Given the description of an element on the screen output the (x, y) to click on. 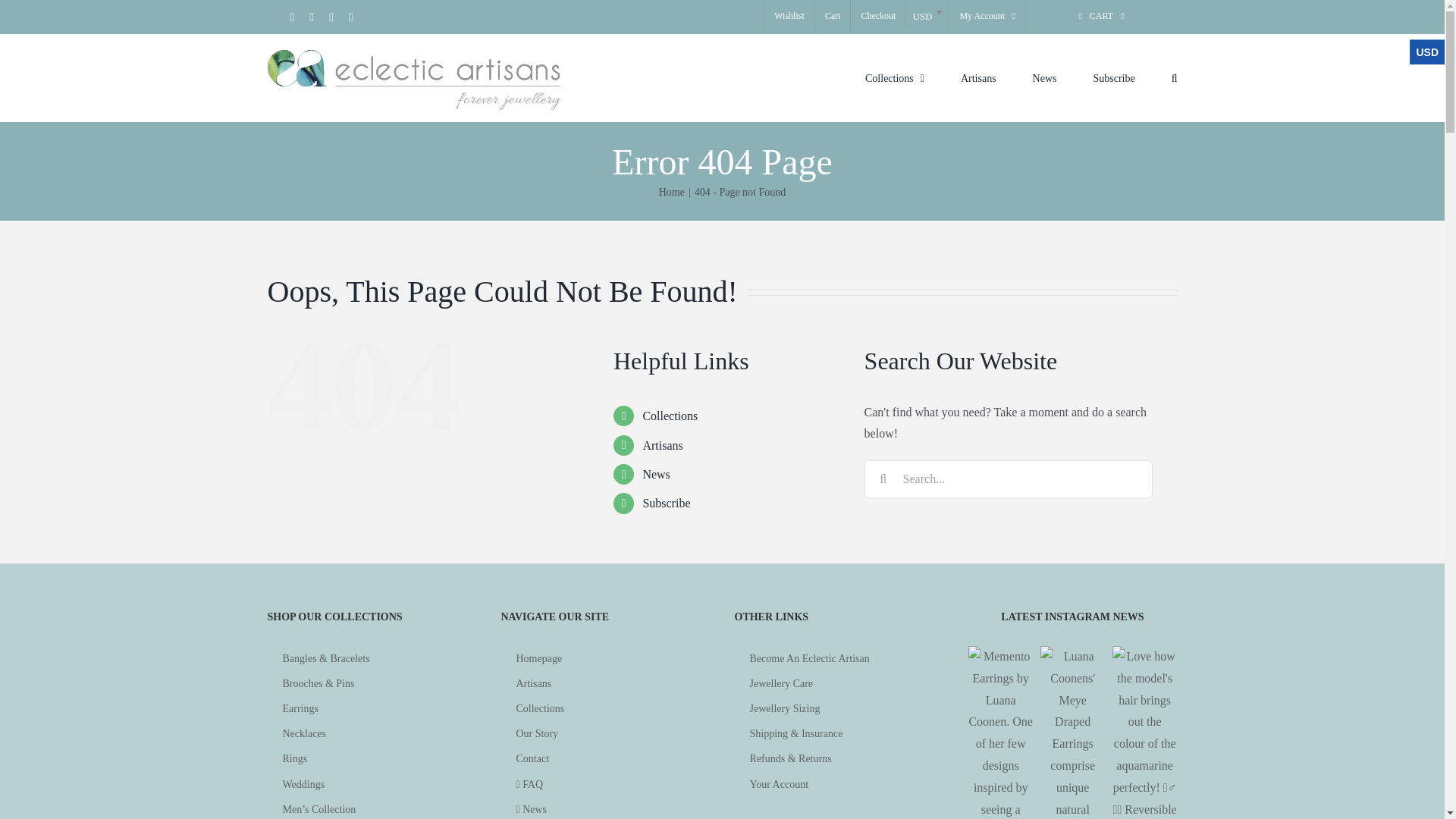
Log In (1055, 177)
My Account (987, 16)
Cart (832, 16)
USD (927, 12)
CART (1101, 16)
Checkout (877, 16)
Wishlist (788, 16)
